Given the description of an element on the screen output the (x, y) to click on. 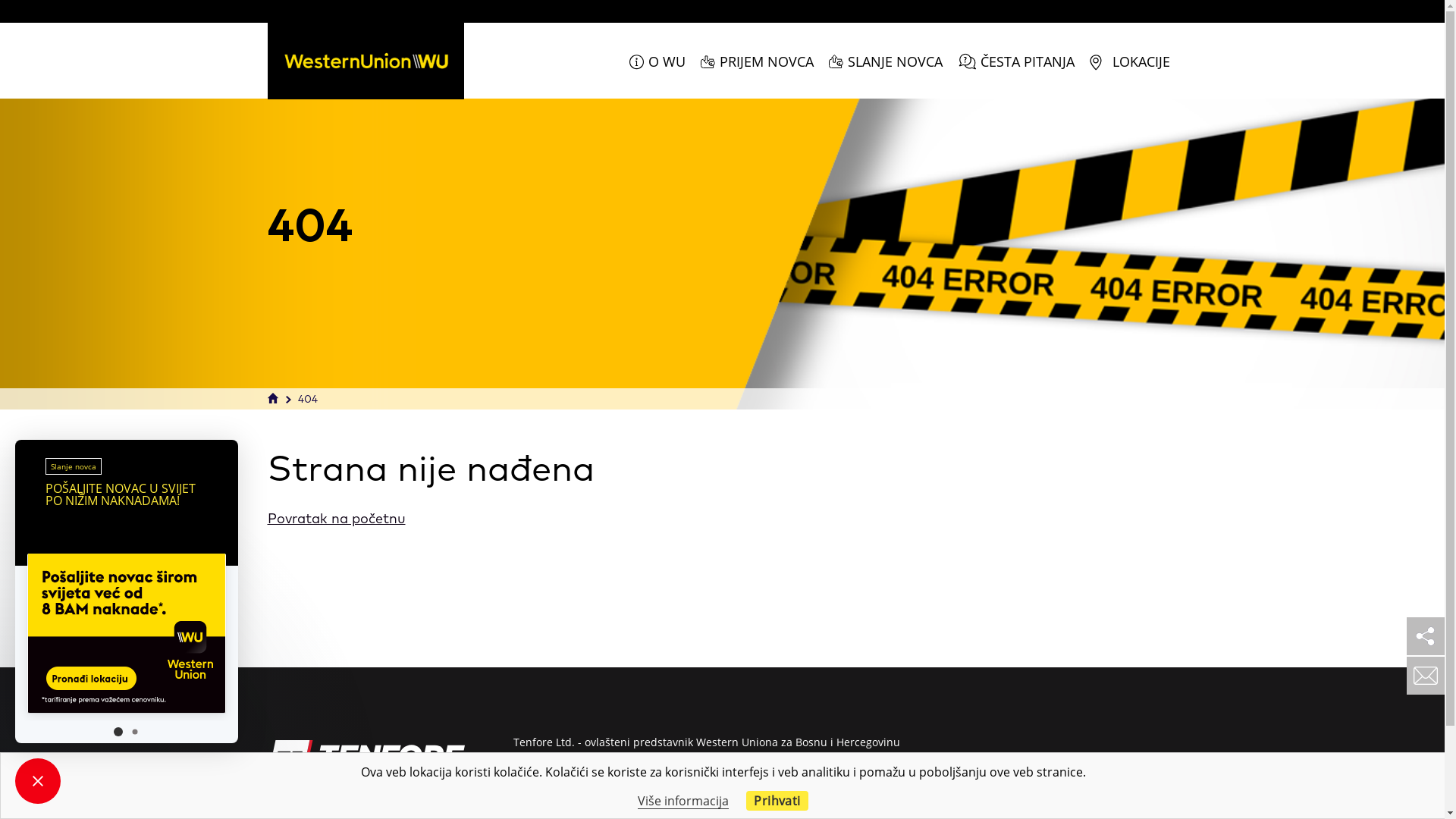
PRIJEM NOVCA Element type: text (756, 61)
SLANJE NOVCA Element type: text (884, 61)
+387(33) 268 000 Element type: text (614, 760)
Tenfore Element type: hover (365, 758)
O WU Element type: text (657, 61)
2 Element type: text (134, 731)
Prihvati Element type: text (776, 800)
LOKACIJE Element type: text (1128, 61)
1 Element type: text (117, 731)
Western Union Transfer Novca Element type: hover (365, 60)
+387(51) 220 800 Element type: text (626, 779)
westernunion(at)tenfore.ba Element type: text (641, 798)
